Given the description of an element on the screen output the (x, y) to click on. 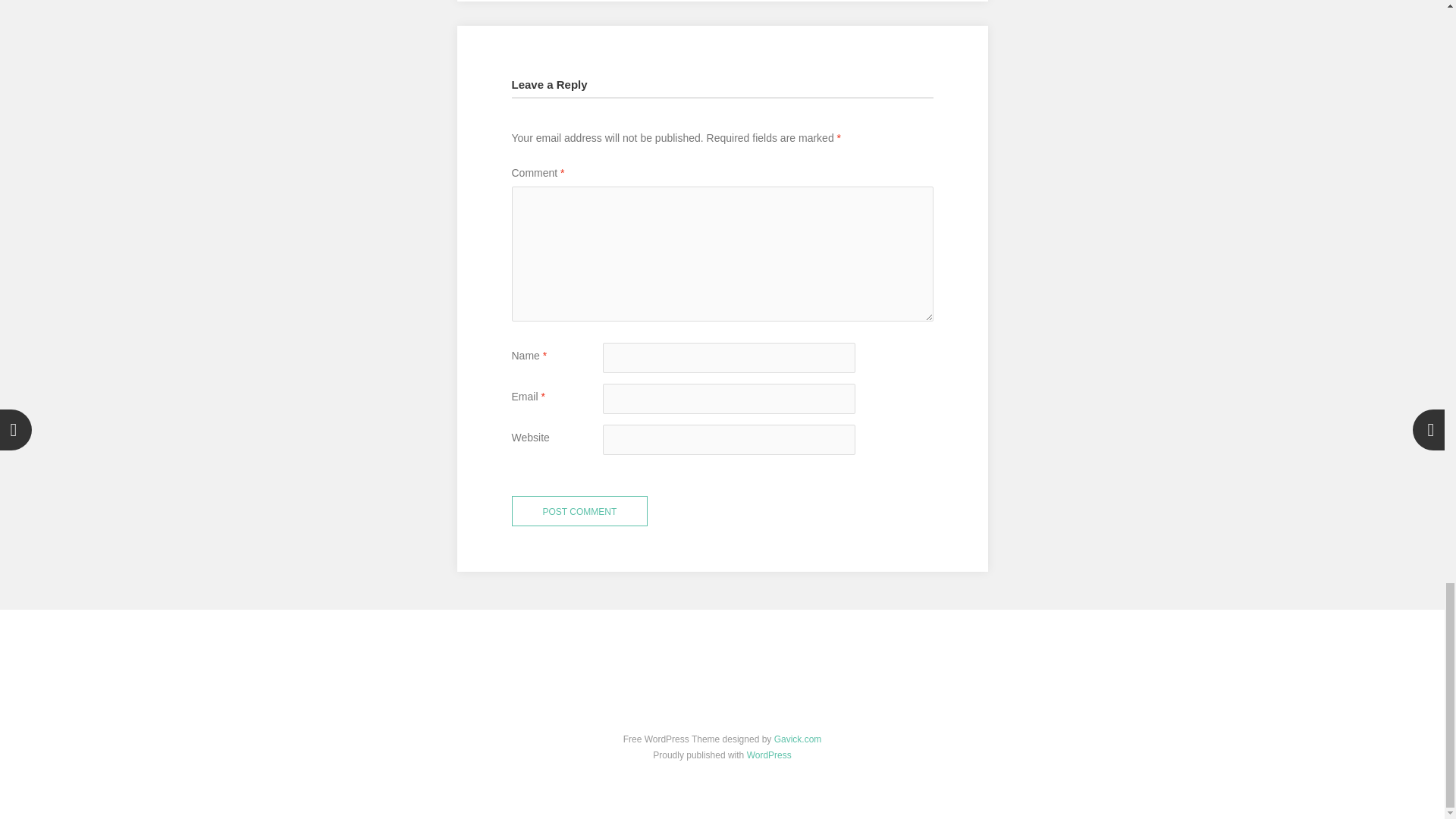
Post Comment (579, 511)
WordPress (769, 755)
Post Comment (579, 511)
Gavick.com (798, 738)
